Given the description of an element on the screen output the (x, y) to click on. 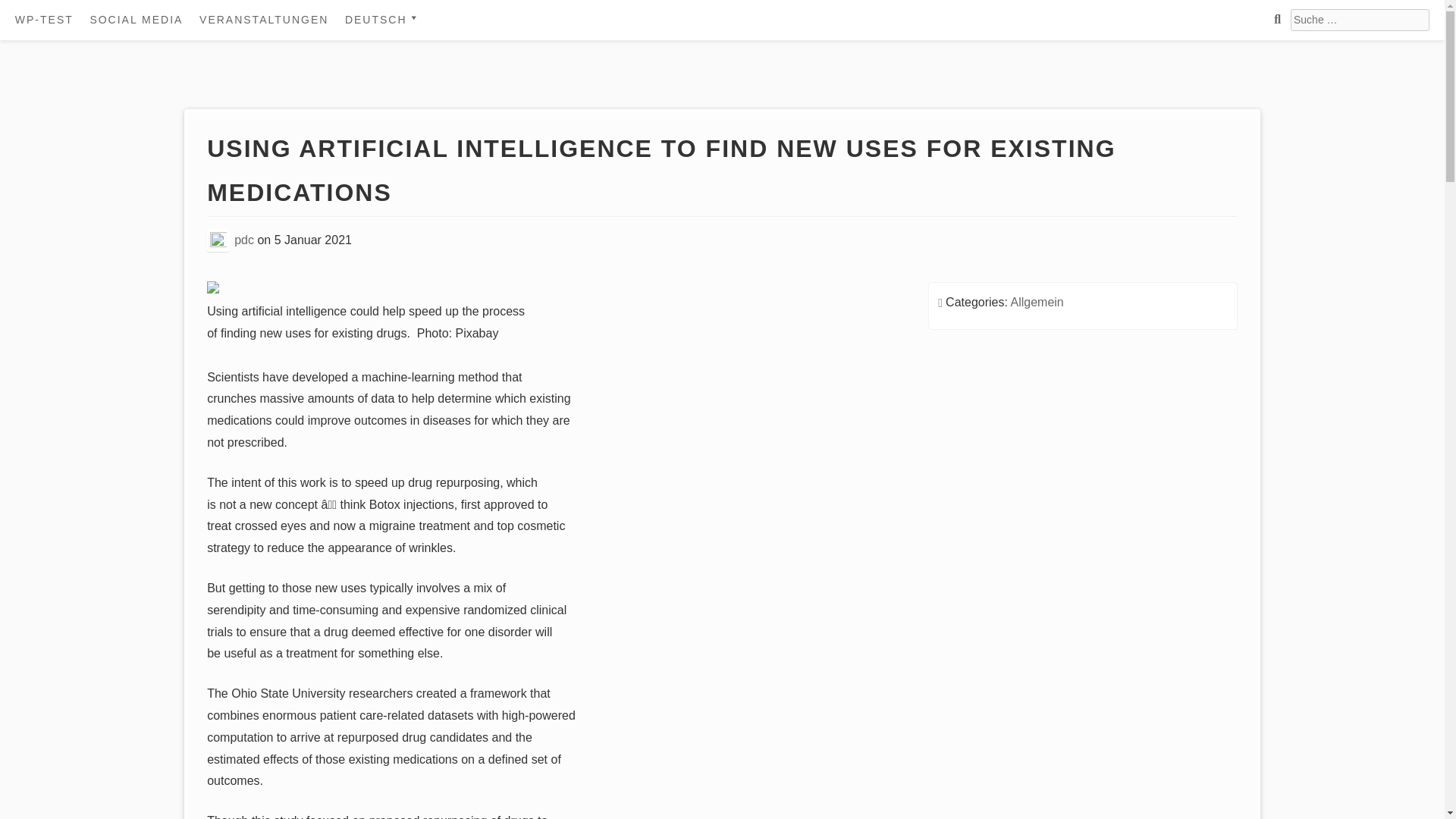
DE GERMAN DEUTSCH (425, 81)
DEUTSCH (382, 19)
VERANSTALTUNGEN (263, 19)
pdc (243, 239)
SOCIAL MEDIA (135, 19)
WP-TEST (44, 19)
Allgemein (1036, 301)
EN ENGLISH ENGLISH (425, 53)
